Given the description of an element on the screen output the (x, y) to click on. 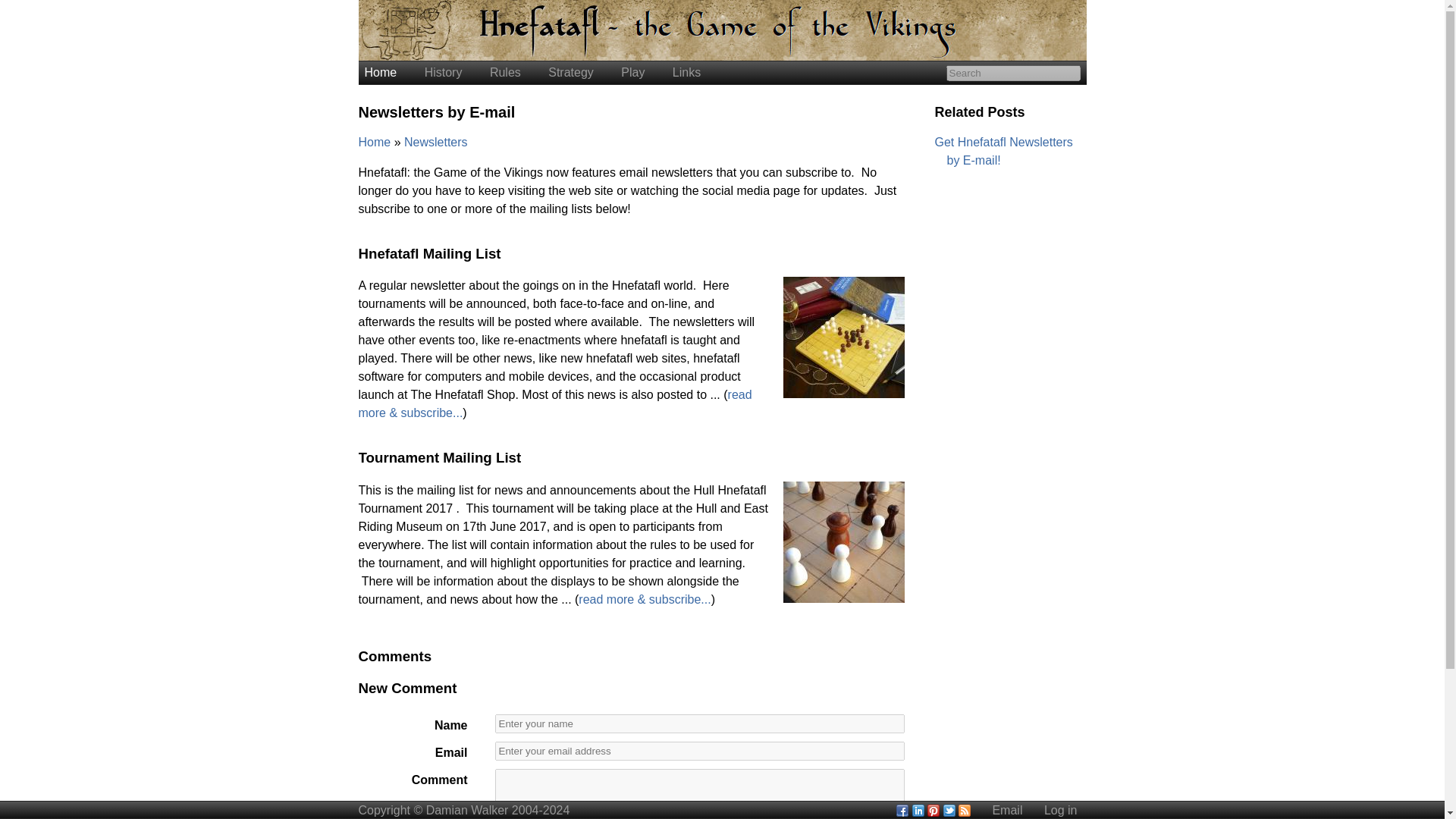
Facebook (902, 809)
Tournament Mailing List (439, 457)
Hnefatafl Mailing List (429, 253)
Newsletters (435, 141)
Strategy (571, 72)
Home (380, 72)
Home (375, 141)
Subscribe to the site's RSS news feed (964, 810)
Links (686, 72)
Play (633, 72)
